Given the description of an element on the screen output the (x, y) to click on. 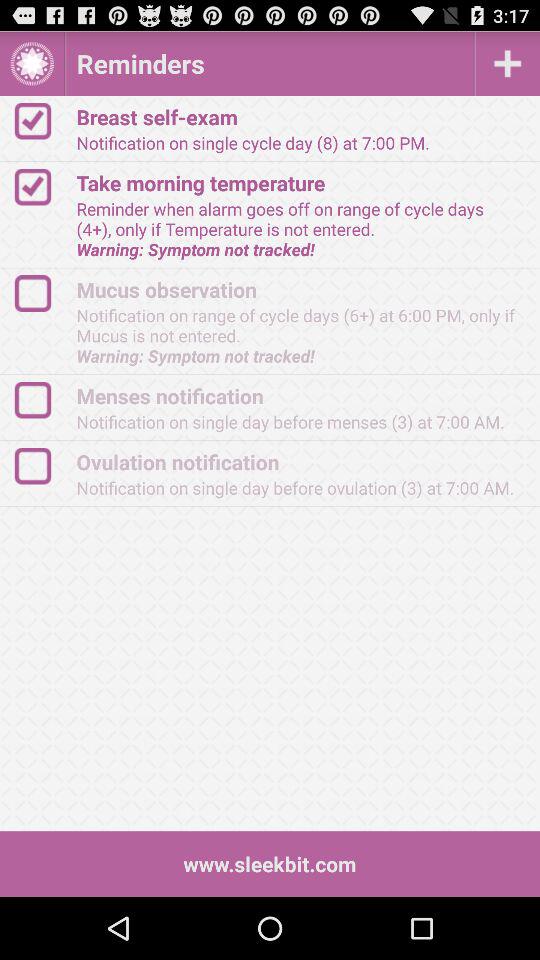
check/uncheck option (41, 186)
